Given the description of an element on the screen output the (x, y) to click on. 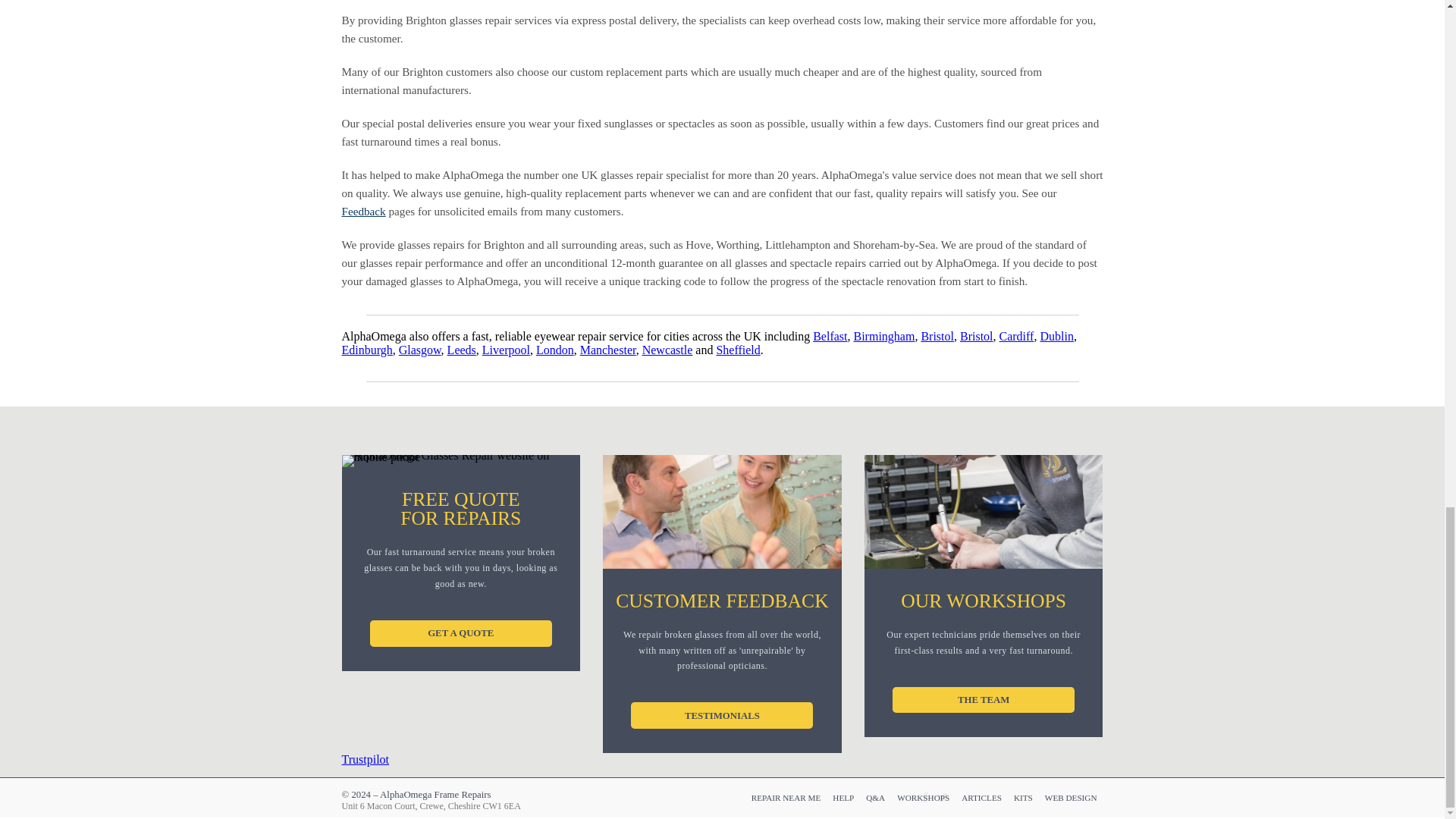
Edinburgh (365, 349)
Newcastle (667, 349)
Liverpool (505, 349)
Bristol (975, 336)
Cardiff (1015, 336)
Feedback (362, 210)
Glasgow (419, 349)
London (554, 349)
Belfast (829, 336)
Trustpilot (364, 758)
